Given the description of an element on the screen output the (x, y) to click on. 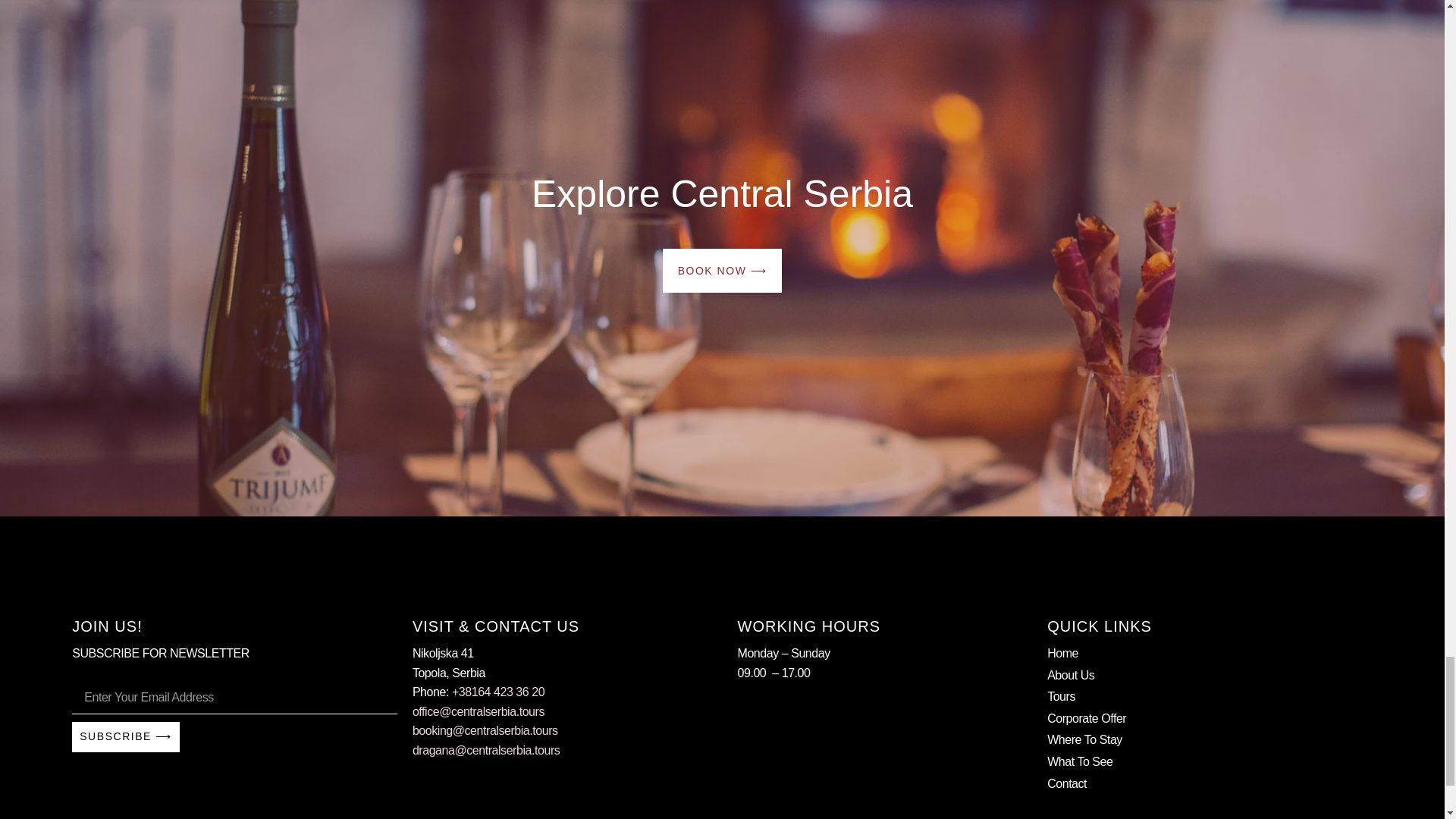
Tours (1209, 696)
What To See (1209, 762)
Contact (1209, 783)
Corporate Offer (1209, 718)
About Us (1209, 675)
Home (1209, 653)
Where To Stay (1209, 740)
